Given the description of an element on the screen output the (x, y) to click on. 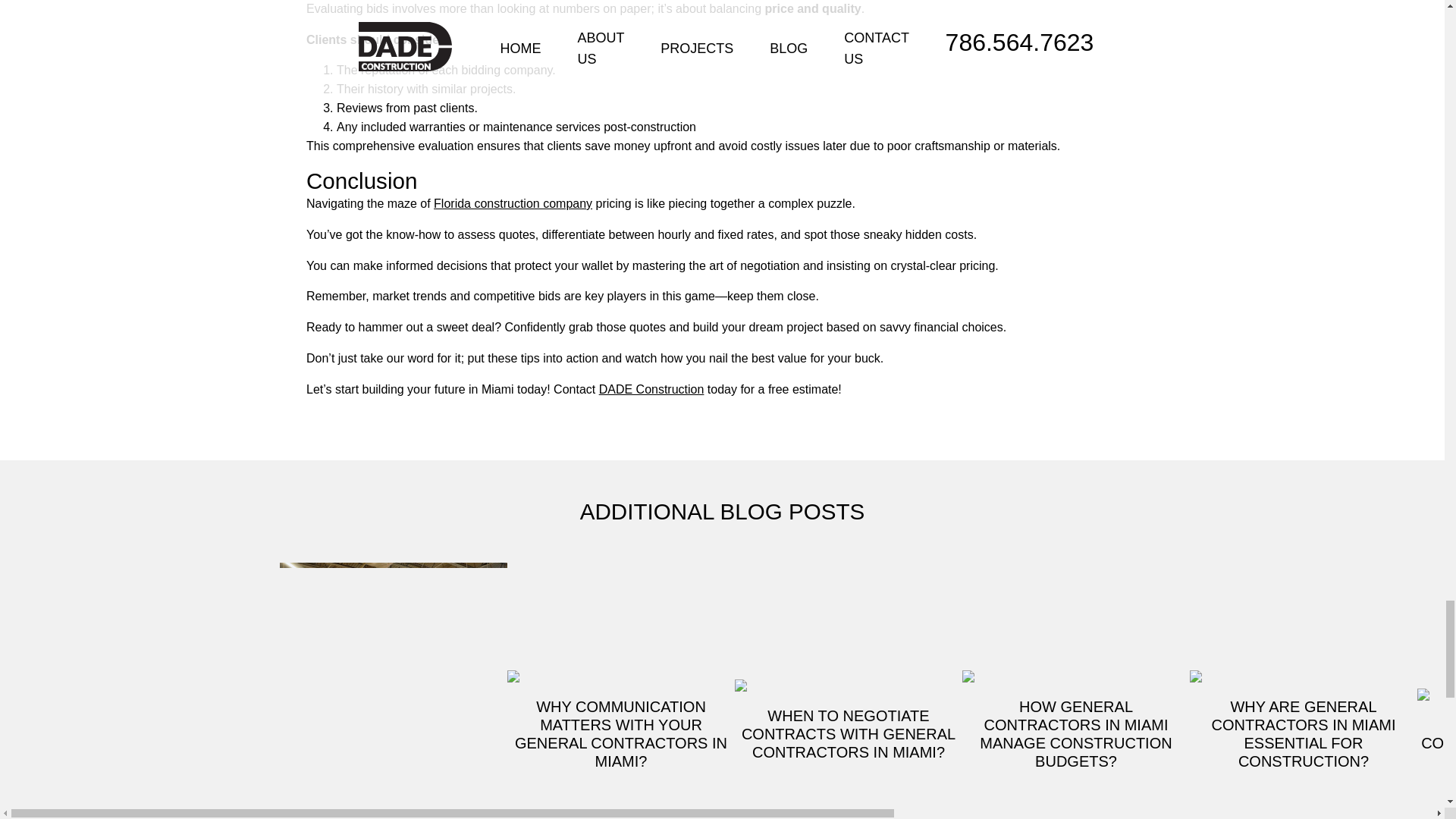
DADE Construction (651, 389)
Florida construction company (512, 203)
